Given the description of an element on the screen output the (x, y) to click on. 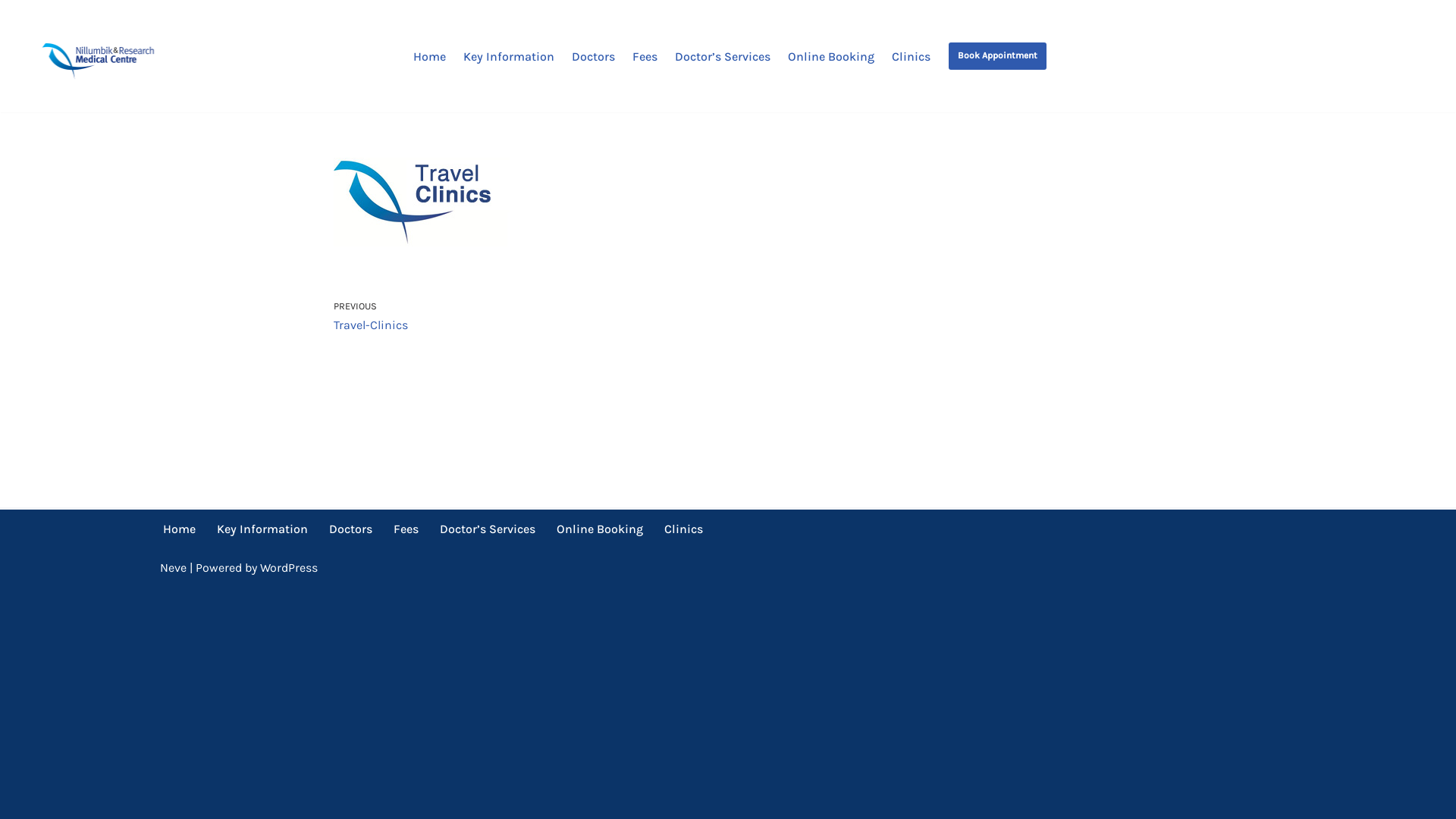
Key Information Element type: text (507, 55)
Doctors Element type: text (593, 55)
Fees Element type: text (644, 55)
Home Element type: text (178, 528)
Home Element type: text (428, 55)
Key Information Element type: text (261, 528)
Clinics Element type: text (910, 55)
Online Booking Element type: text (830, 55)
Skip to content Element type: text (11, 31)
Clinics Element type: text (683, 528)
Fees Element type: text (404, 528)
Book Appointment Element type: text (996, 55)
PREVIOUS
Travel-Clinics Element type: text (526, 316)
Online Booking Element type: text (599, 528)
Doctors Element type: text (350, 528)
Neve Element type: text (172, 567)
WordPress Element type: text (287, 567)
